Given the description of an element on the screen output the (x, y) to click on. 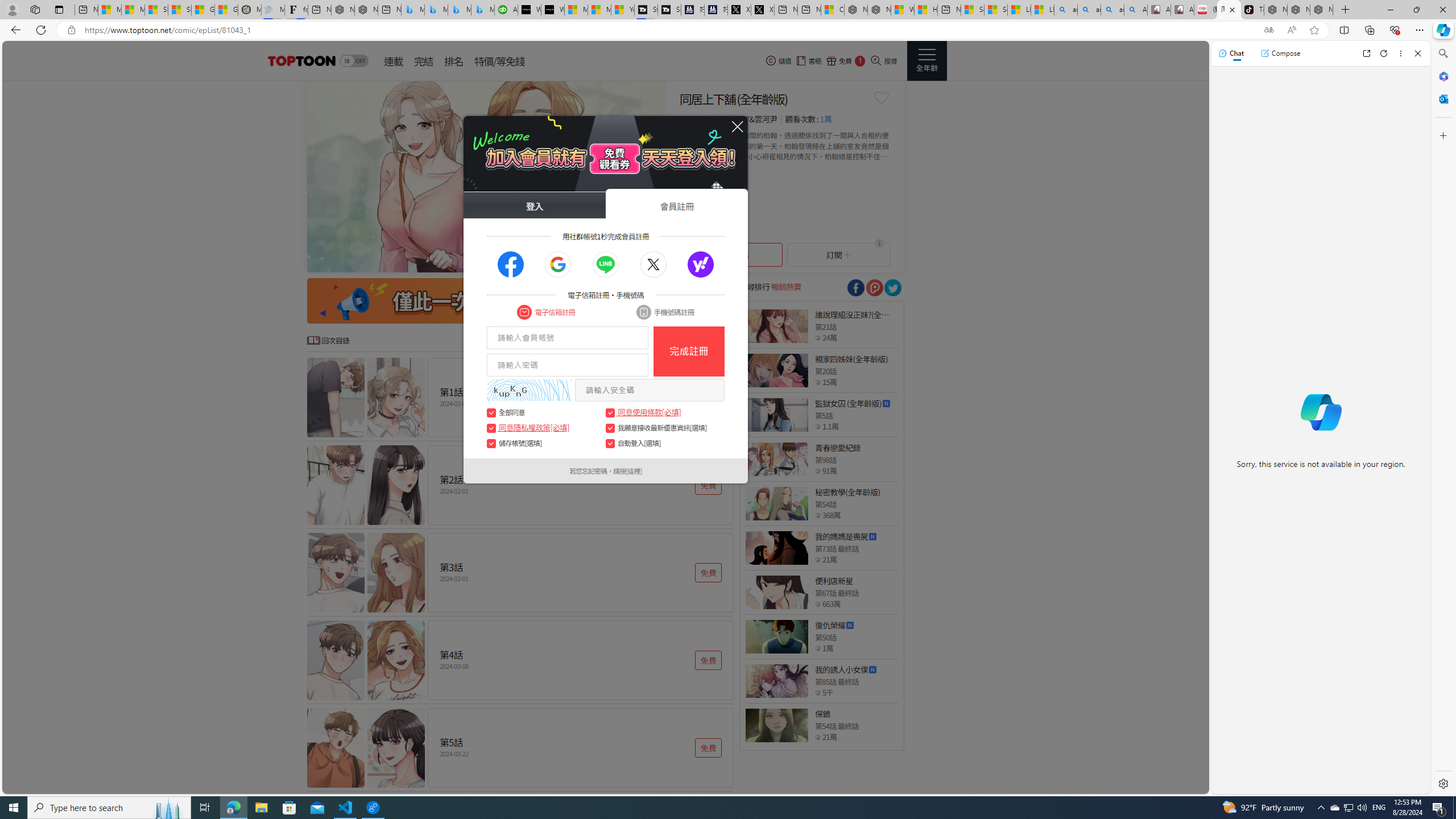
header (300, 60)
Huge shark washes ashore at New York City beach | Watch (926, 9)
Class:  switch_18mode actionAdultBtn (353, 60)
App bar (728, 29)
Class: socialBtn actionSocialJoinBtn (701, 264)
Class: swiper-slide (486, 176)
Show translate options (1268, 29)
